Given the description of an element on the screen output the (x, y) to click on. 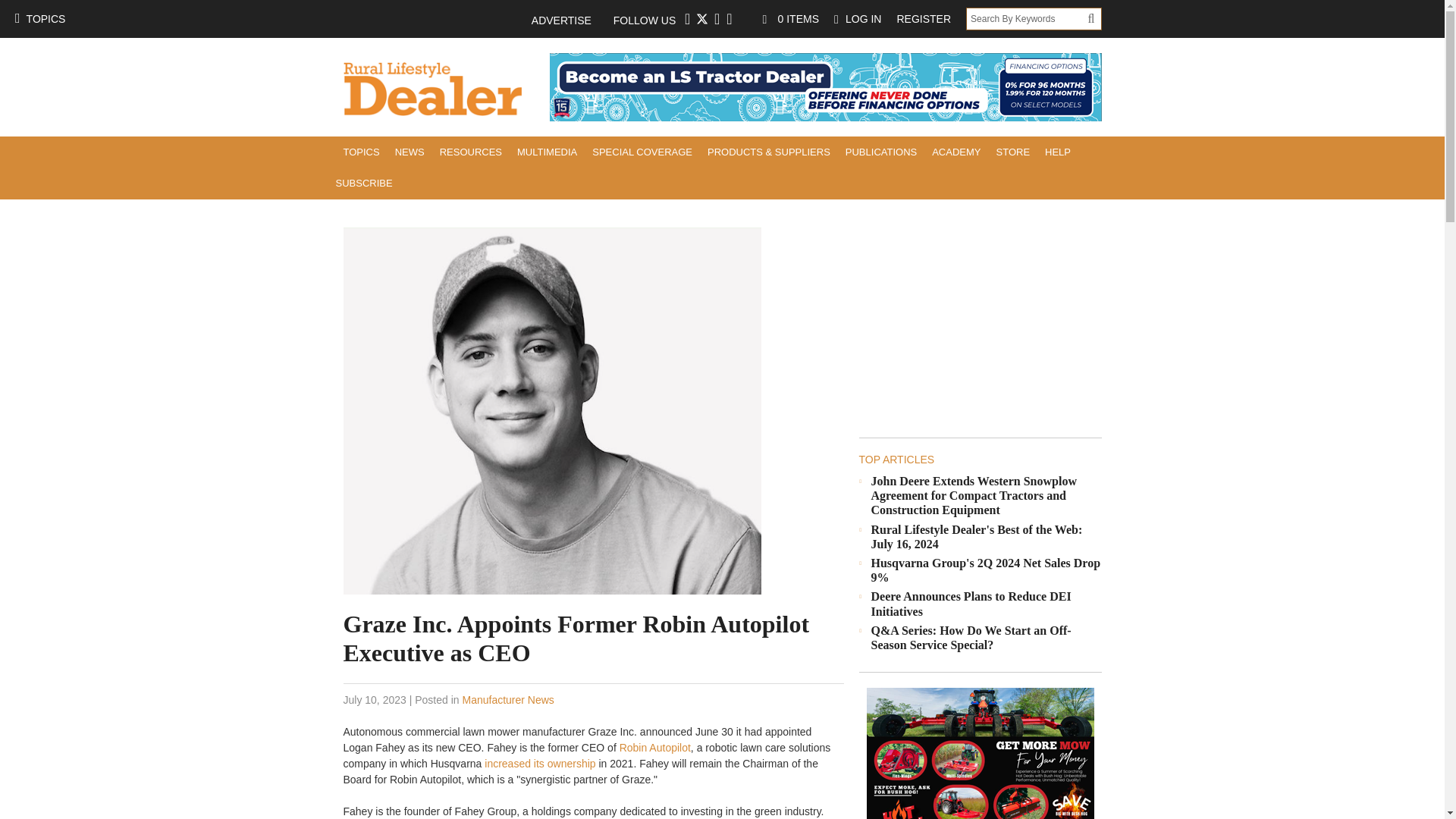
LS Tractor (824, 87)
Search By Keywords (1026, 18)
TOPICS (39, 18)
NEWS (409, 151)
LOG IN (857, 18)
TOPICS (360, 151)
ADVERTISE (569, 20)
REGISTER (923, 18)
Search By Keywords (1026, 18)
0 ITEMS (791, 18)
